Given the description of an element on the screen output the (x, y) to click on. 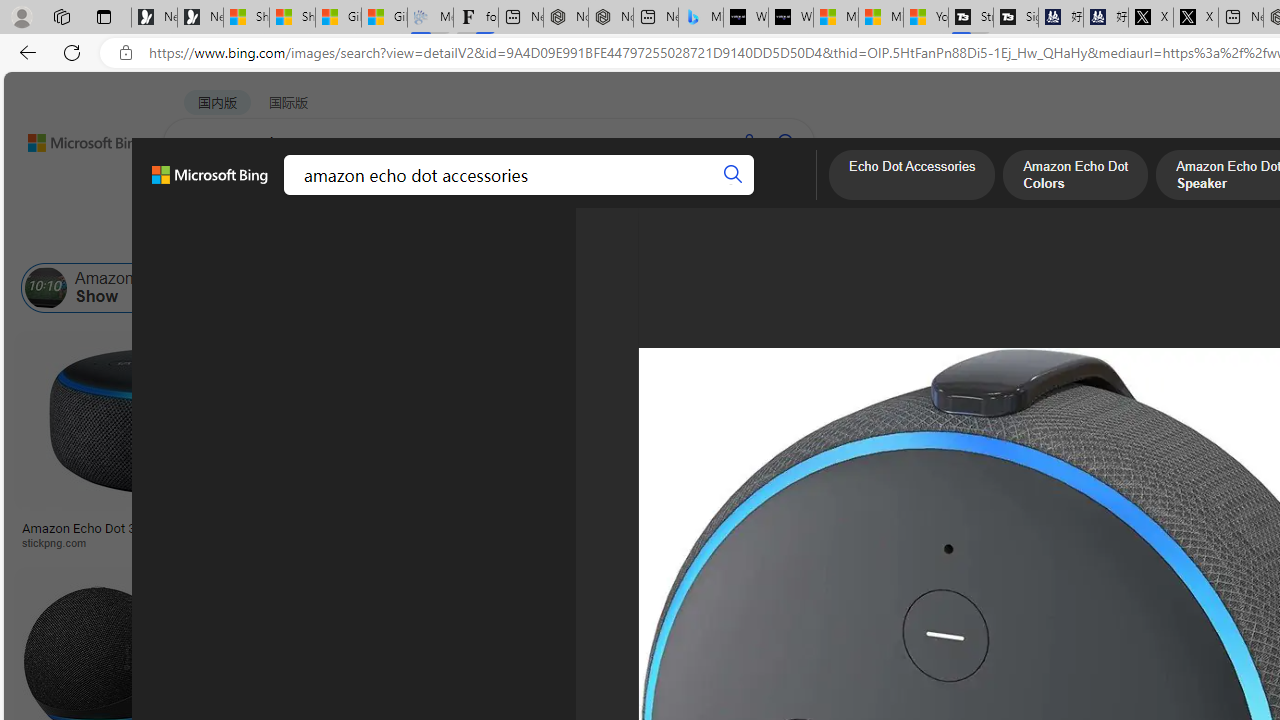
Type (373, 237)
Amazon Echo Speaker (1199, 287)
Color (305, 237)
Dropdown Menu (779, 195)
Echo Dot with Clock (995, 460)
Image result for Amazon Echo Dot PNG (1185, 611)
Amazon Alexa Echo (228, 287)
Amazon Echo Show (107, 287)
Image size (222, 237)
